Given the description of an element on the screen output the (x, y) to click on. 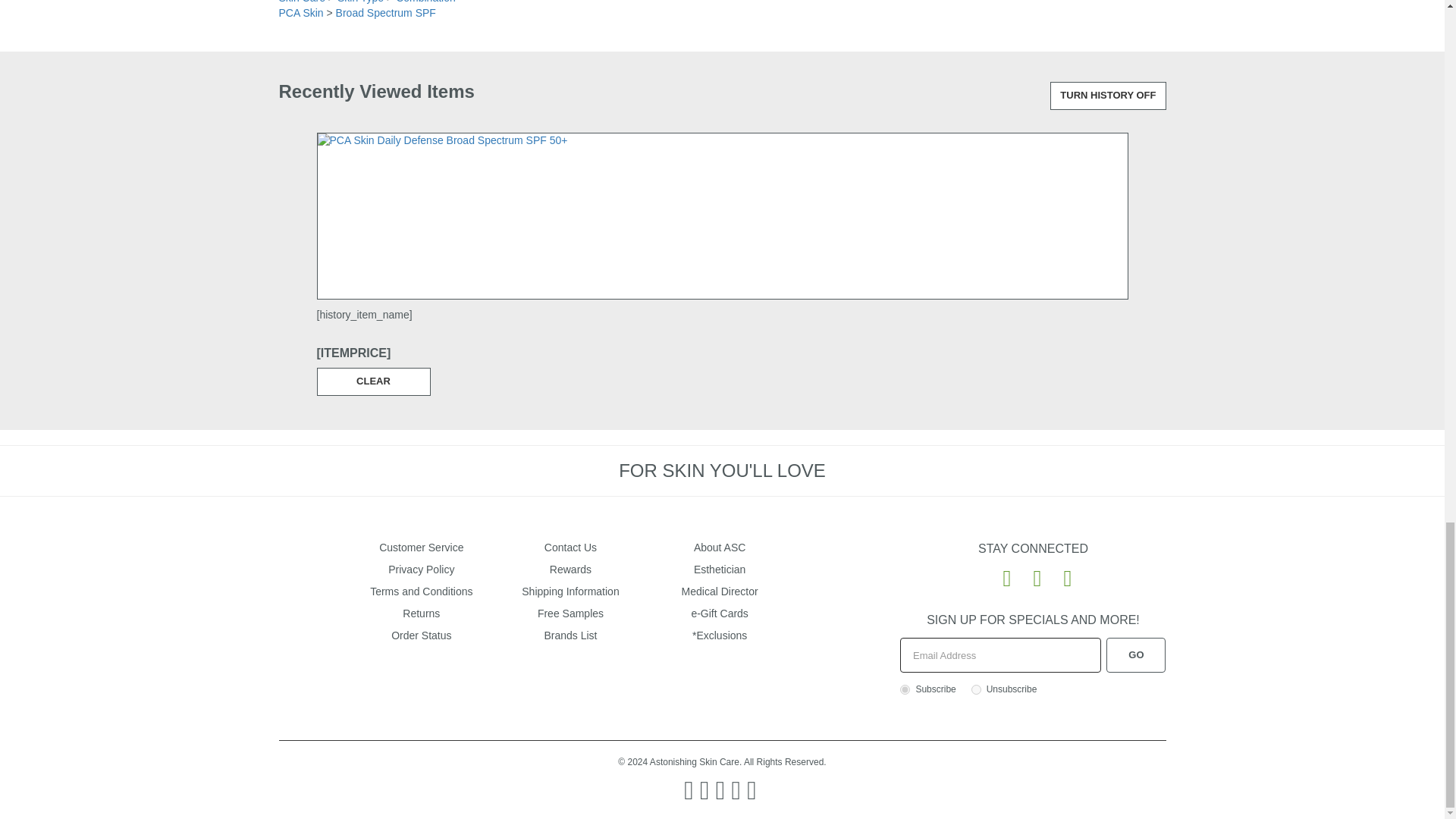
Follow Us on Twitter (1031, 577)
Follow Us on Instagram (1061, 577)
1 (904, 689)
Like Us on Facebook (1000, 577)
0 (976, 689)
